Given the description of an element on the screen output the (x, y) to click on. 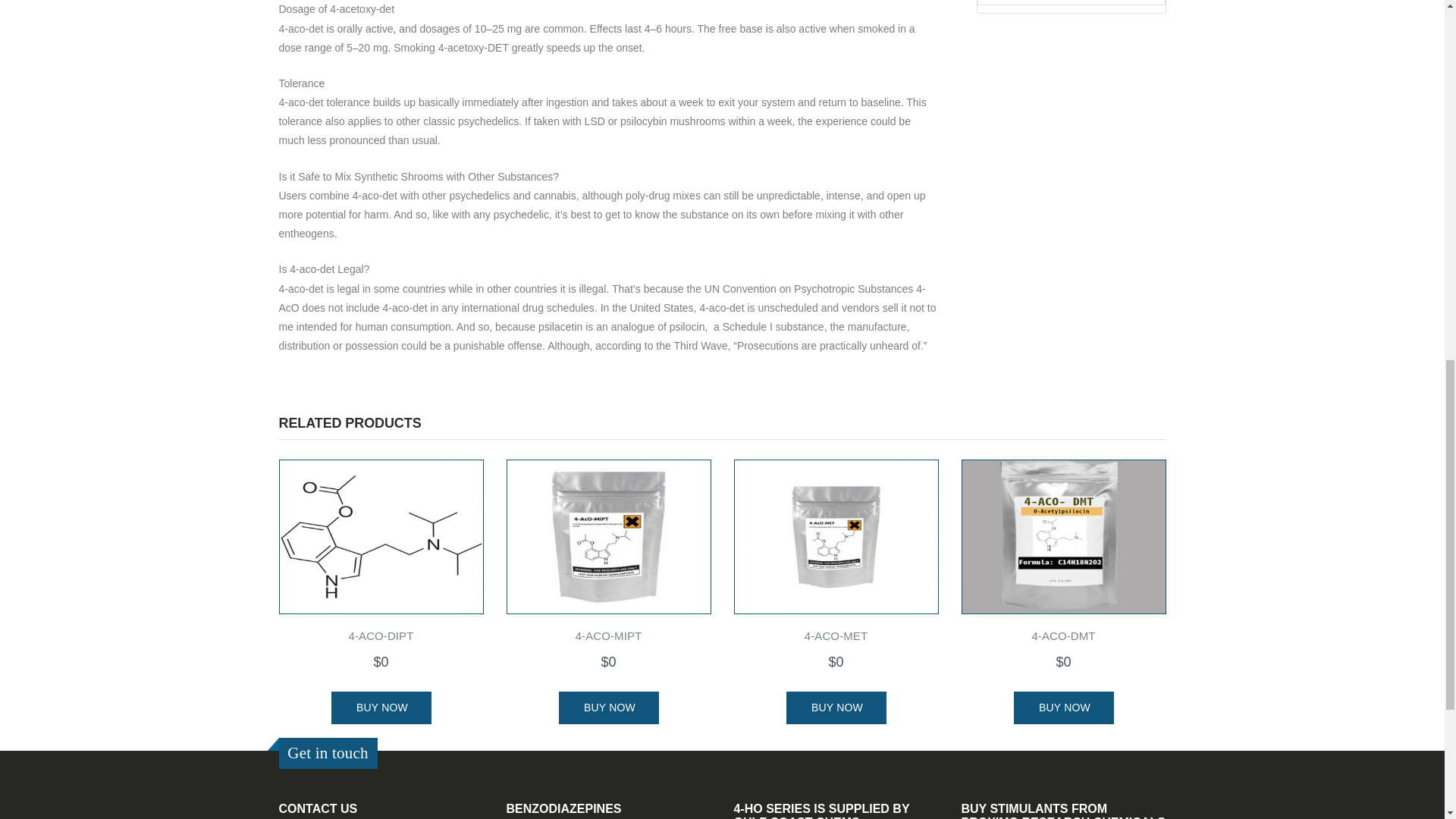
4-ACO-DIPT (380, 536)
4-ACO-MIPT (608, 536)
Buy Now (380, 707)
4-ACO-DMT (1062, 536)
Buy Now (835, 707)
4-ACO-MET (835, 536)
Buy Now (1063, 707)
Buy Now (607, 707)
